Given the description of an element on the screen output the (x, y) to click on. 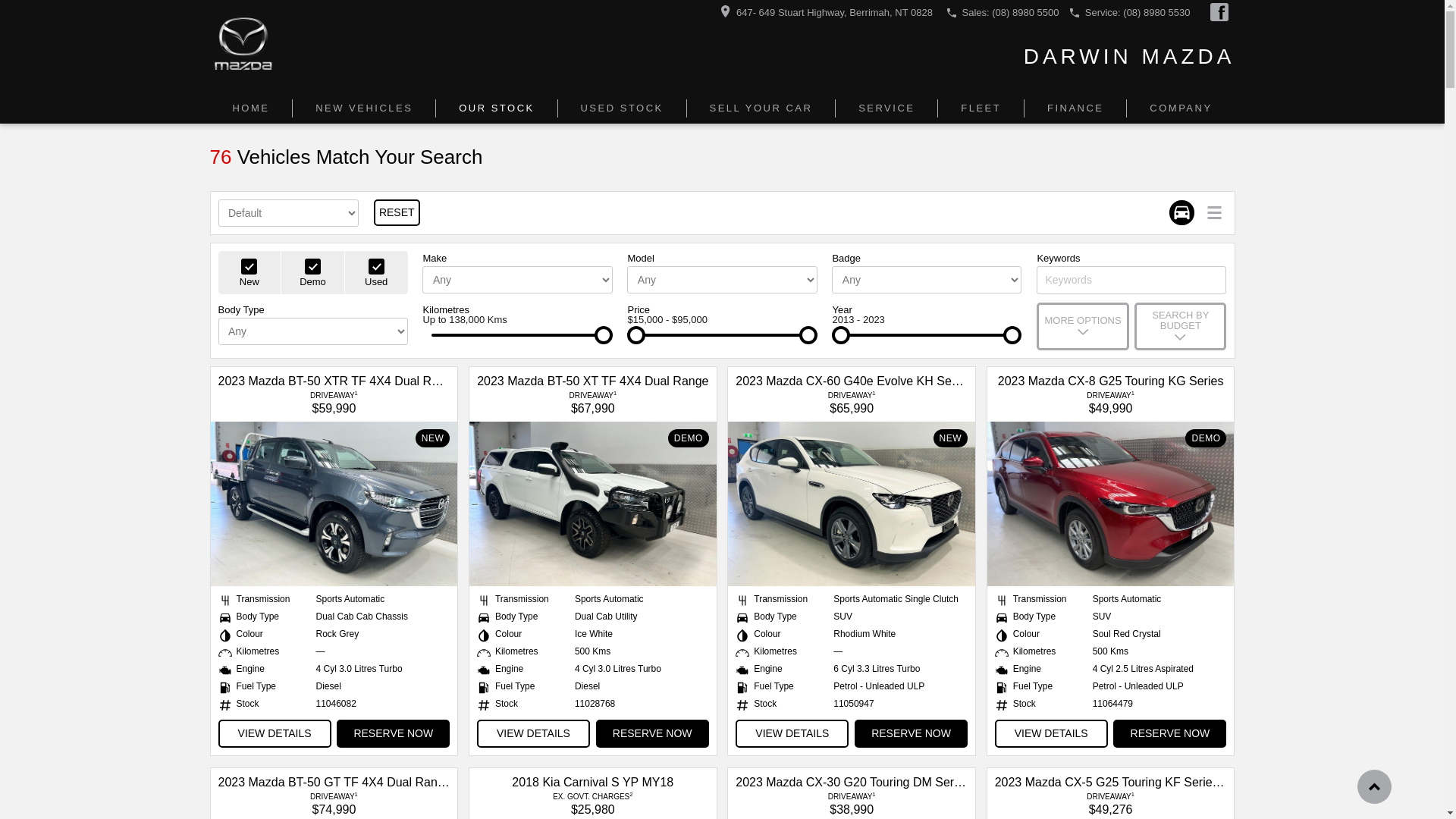
VIEW DETAILS Element type: text (791, 733)
FINANCE Element type: text (1075, 108)
DEMO Element type: text (592, 503)
NEW Element type: text (334, 503)
MORE OPTIONS Element type: text (1082, 326)
DRIVEAWAY1
$59,990 Element type: text (334, 401)
DRIVEAWAY1
$38,990 Element type: text (851, 802)
SELL YOUR CAR Element type: text (761, 108)
DRIVEAWAY1
$74,990 Element type: text (334, 802)
RESET Element type: text (396, 212)
DRIVEAWAY1
$67,990 Element type: text (592, 401)
FLEET Element type: text (981, 108)
HOME Element type: text (250, 108)
EX. GOVT. CHARGES2
$25,980 Element type: text (592, 802)
Service: (08) 8980 5530 Element type: text (1137, 12)
RESERVE NOW Element type: text (910, 733)
RESERVE NOW Element type: text (392, 733)
NEW VEHICLES Element type: text (364, 108)
NEW Element type: text (851, 503)
SEARCH BY BUDGET Element type: text (1180, 326)
COMPANY Element type: text (1180, 108)
OUR STOCK Element type: text (496, 108)
RESERVE NOW Element type: text (652, 733)
VIEW DETAILS Element type: text (532, 733)
VIEW DETAILS Element type: text (1050, 733)
DRIVEAWAY1
$49,990 Element type: text (1110, 401)
RESERVE NOW Element type: text (1169, 733)
SERVICE Element type: text (886, 108)
VIEW DETAILS Element type: text (274, 733)
DRIVEAWAY1
$65,990 Element type: text (851, 401)
Sales: (08) 8980 5500 Element type: text (1010, 12)
DEMO Element type: text (1110, 503)
DRIVEAWAY1
$49,276 Element type: text (1110, 802)
USED STOCK Element type: text (622, 108)
647- 649 Stuart Highway, Berrimah, NT 0828 Element type: text (834, 12)
